Given the description of an element on the screen output the (x, y) to click on. 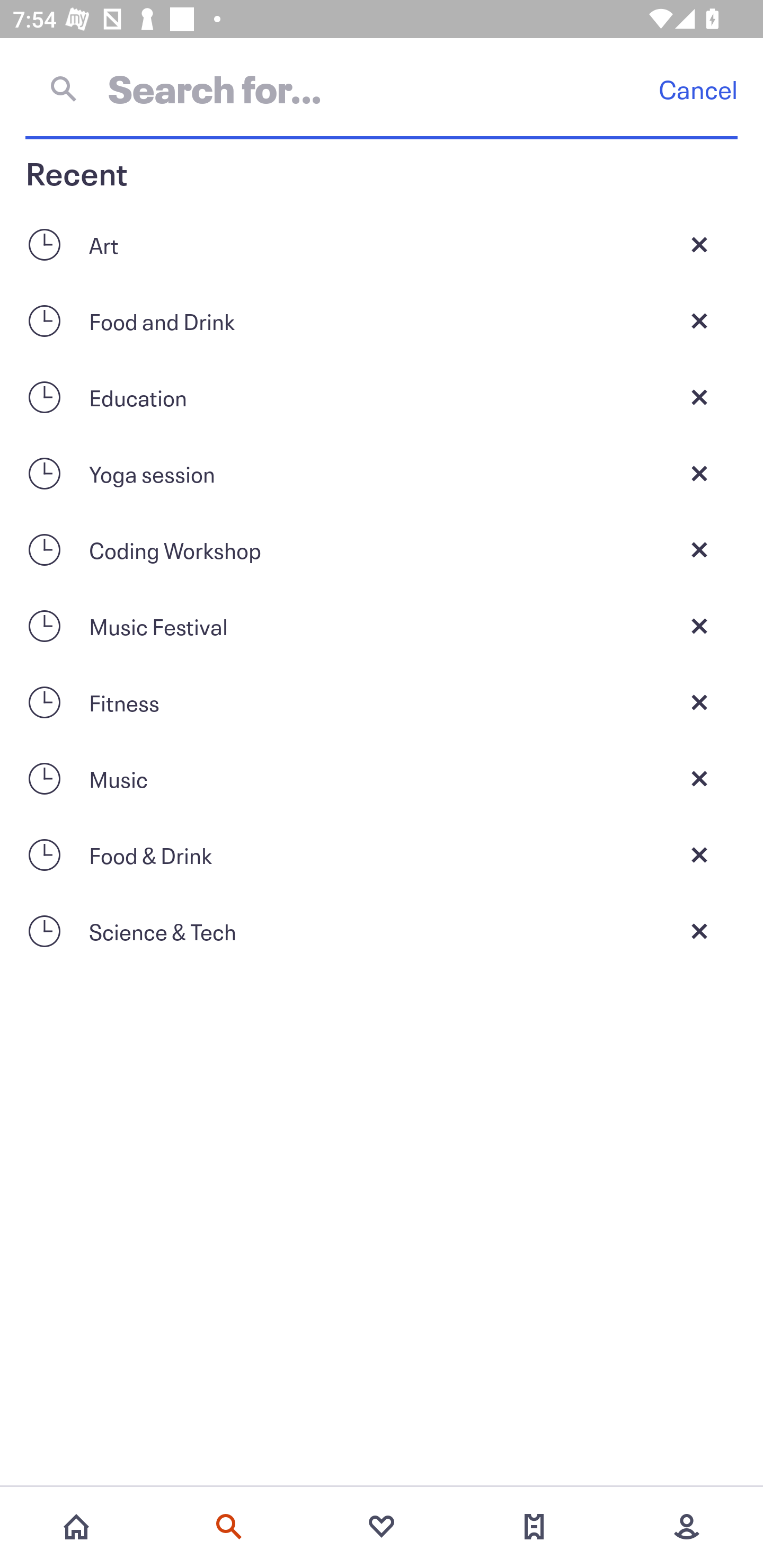
Cancel Search for… (381, 88)
Cancel (697, 89)
Art Close current screen (381, 244)
Close current screen (699, 244)
Food and Drink Close current screen (381, 320)
Close current screen (699, 320)
Education Close current screen (381, 397)
Close current screen (699, 397)
Yoga session Close current screen (381, 473)
Close current screen (699, 473)
Coding Workshop Close current screen (381, 549)
Close current screen (699, 549)
Music Festival Close current screen (381, 626)
Close current screen (699, 626)
Fitness Close current screen (381, 702)
Close current screen (699, 702)
Music Close current screen (381, 778)
Close current screen (699, 778)
Food & Drink Close current screen (381, 854)
Close current screen (699, 854)
Science & Tech Close current screen (381, 931)
Close current screen (699, 931)
Home (76, 1526)
Search events (228, 1526)
Favorites (381, 1526)
Tickets (533, 1526)
More (686, 1526)
